Given the description of an element on the screen output the (x, y) to click on. 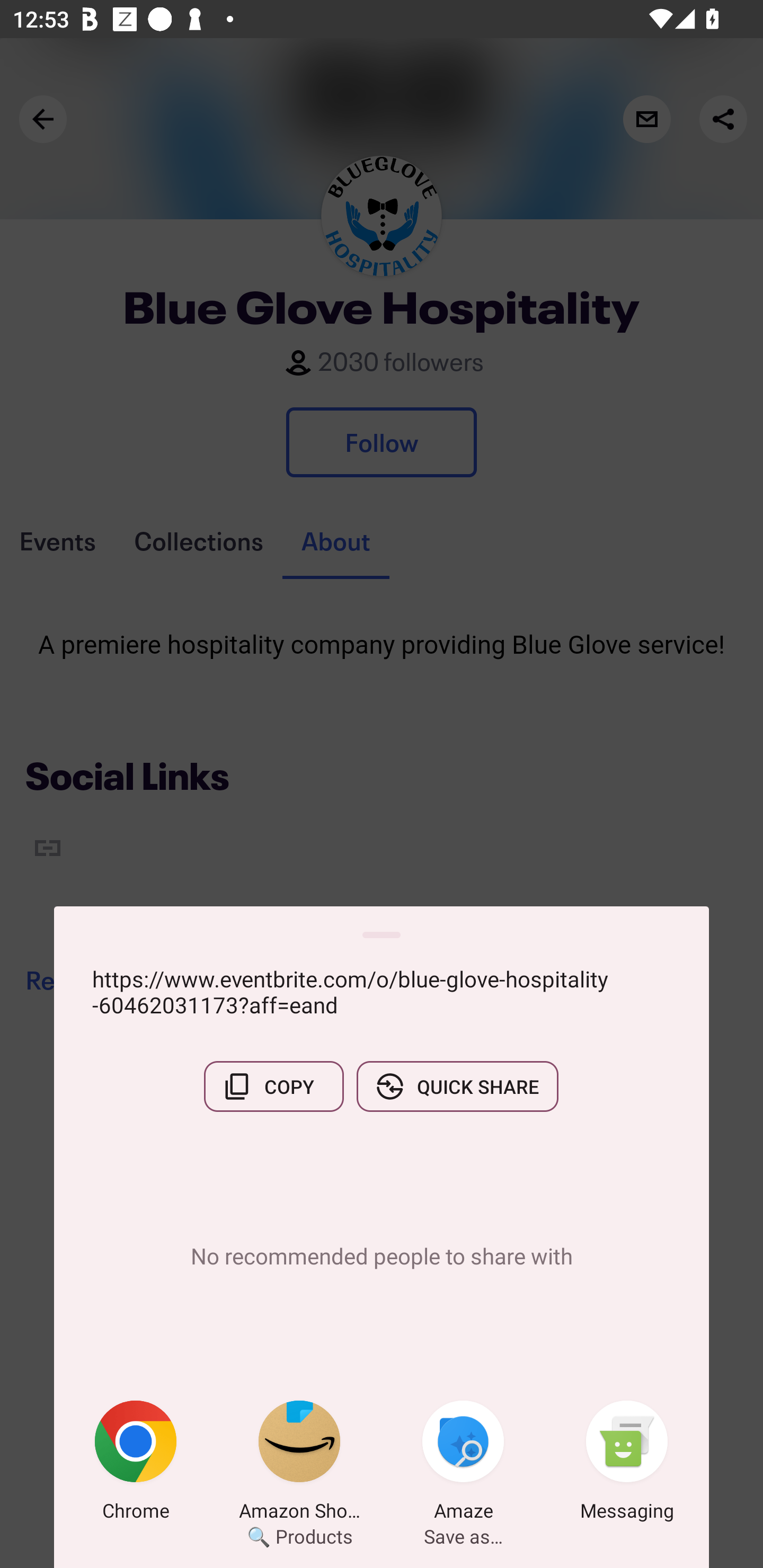
COPY (273, 1086)
QUICK SHARE (457, 1086)
Chrome (135, 1463)
Amazon Shopping 🔍 Products (299, 1463)
Amaze Save as… (463, 1463)
Messaging (626, 1463)
